Given the description of an element on the screen output the (x, y) to click on. 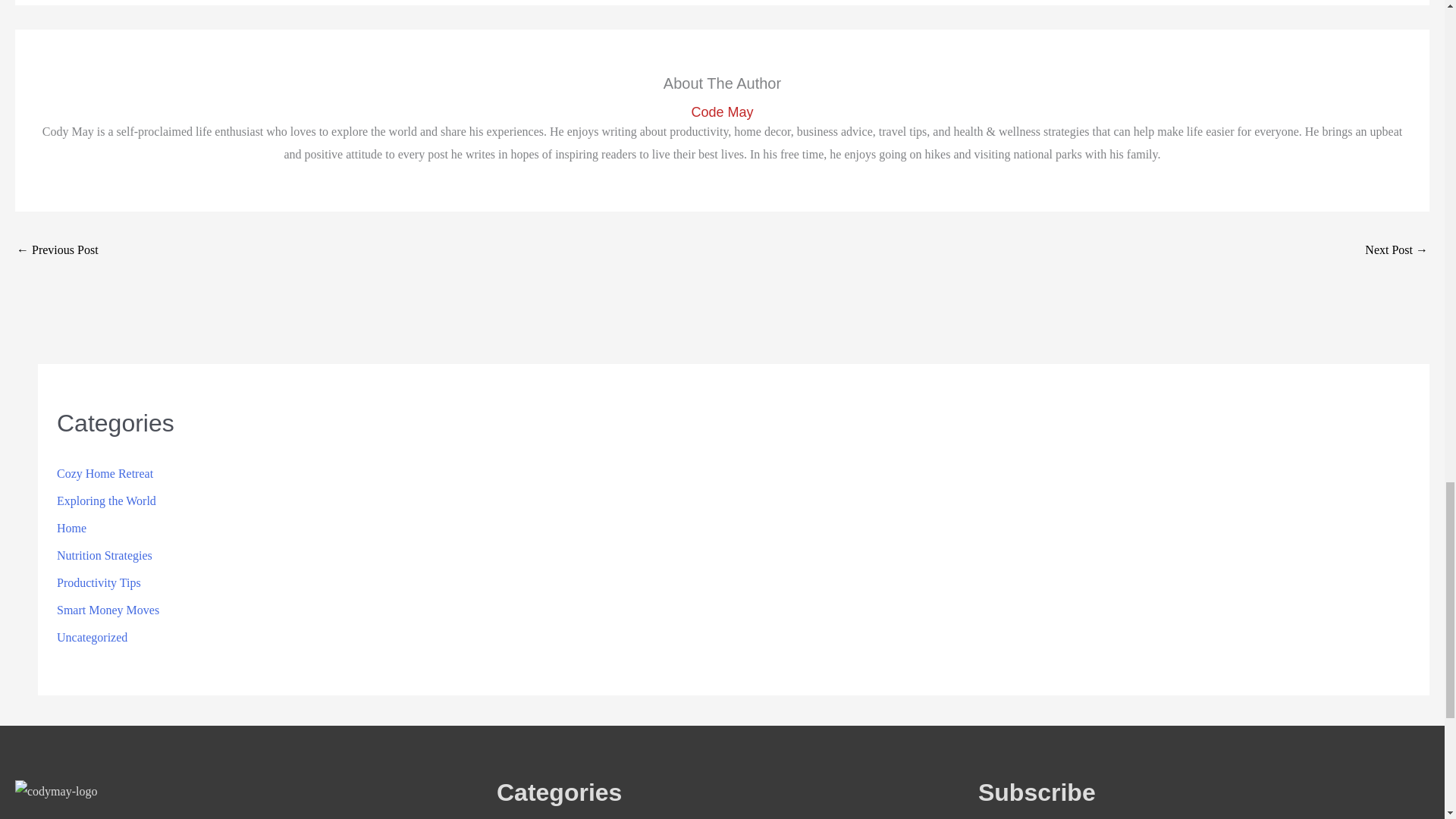
Orthopedic Care for Your Teens: Why It Matters (1396, 251)
Uncategorized (92, 636)
Code May (721, 112)
Productivity Tips (98, 582)
Exploring the World (105, 500)
Five Ways to Get Yourself through the Flu Season (57, 251)
Home (70, 527)
Nutrition Strategies (104, 554)
Cozy Home Retreat (104, 472)
Smart Money Moves (107, 609)
